Given the description of an element on the screen output the (x, y) to click on. 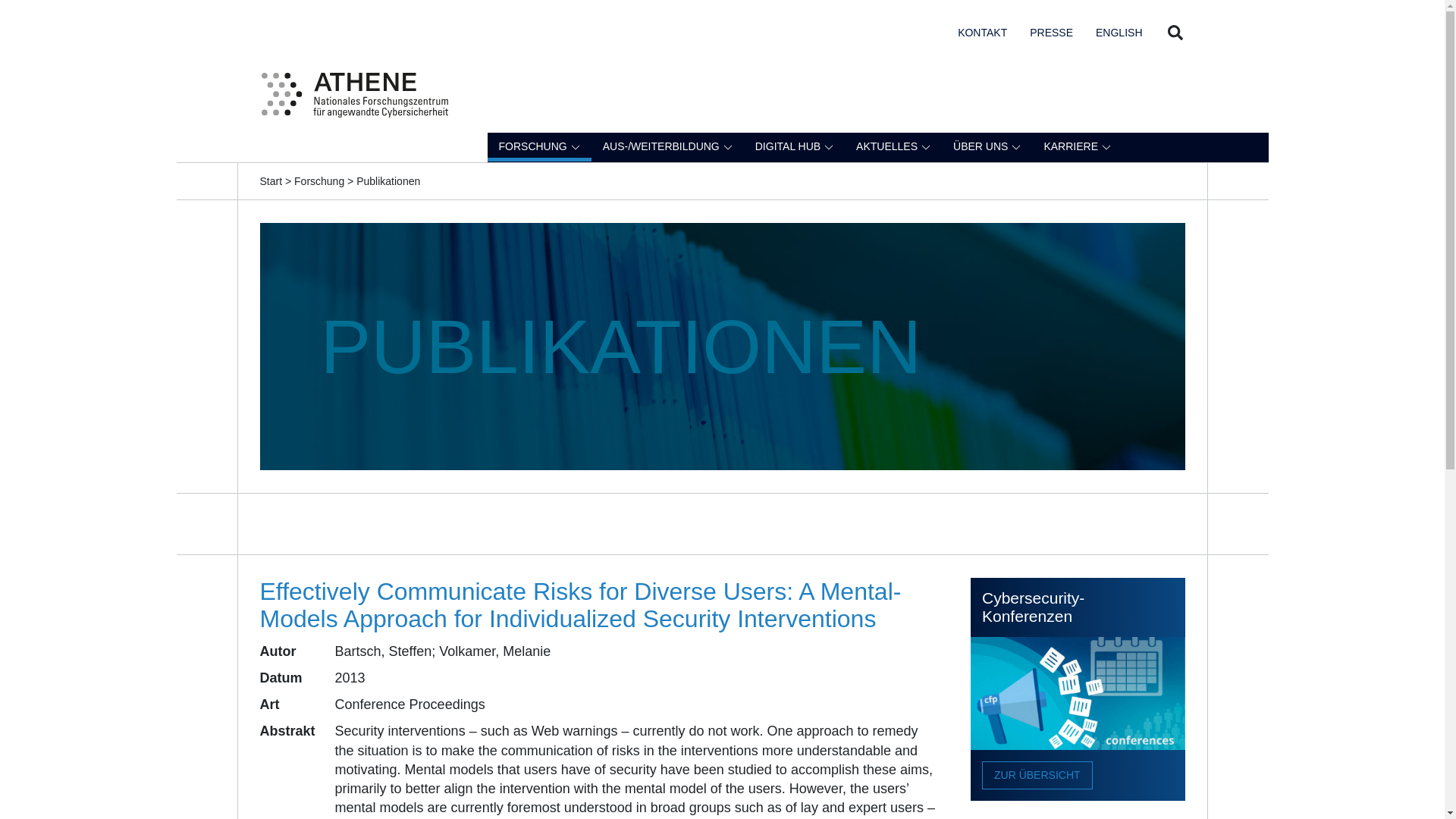
PRESSE (1051, 31)
ENGLISH (1118, 31)
KONTAKT (982, 31)
